Given the description of an element on the screen output the (x, y) to click on. 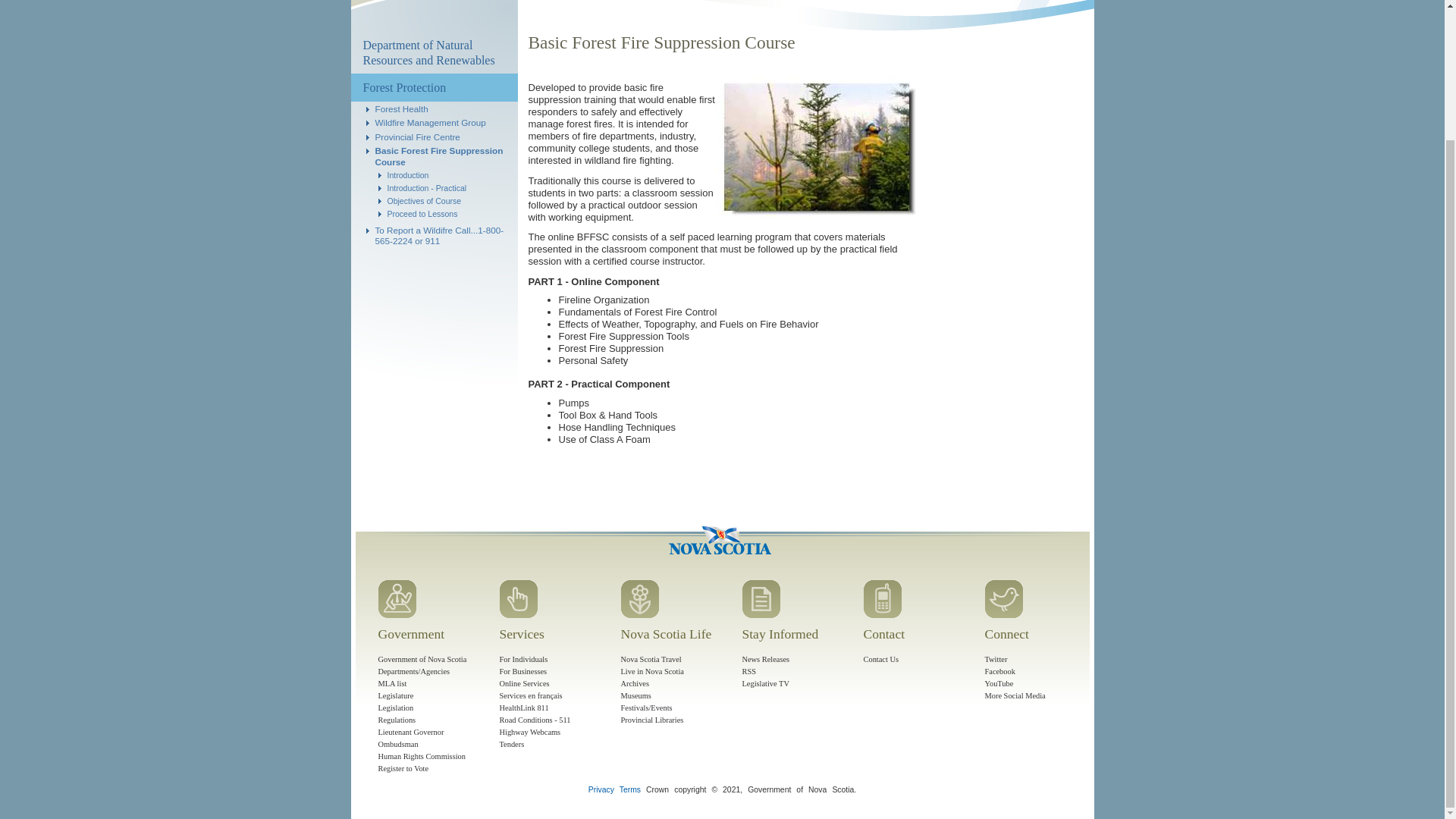
Forest Protection (433, 87)
Forest Health (401, 108)
Provincial Fire Centre (417, 136)
Wildfire Management Group (429, 122)
Department of Natural Resources and Renewables (433, 52)
